Given the description of an element on the screen output the (x, y) to click on. 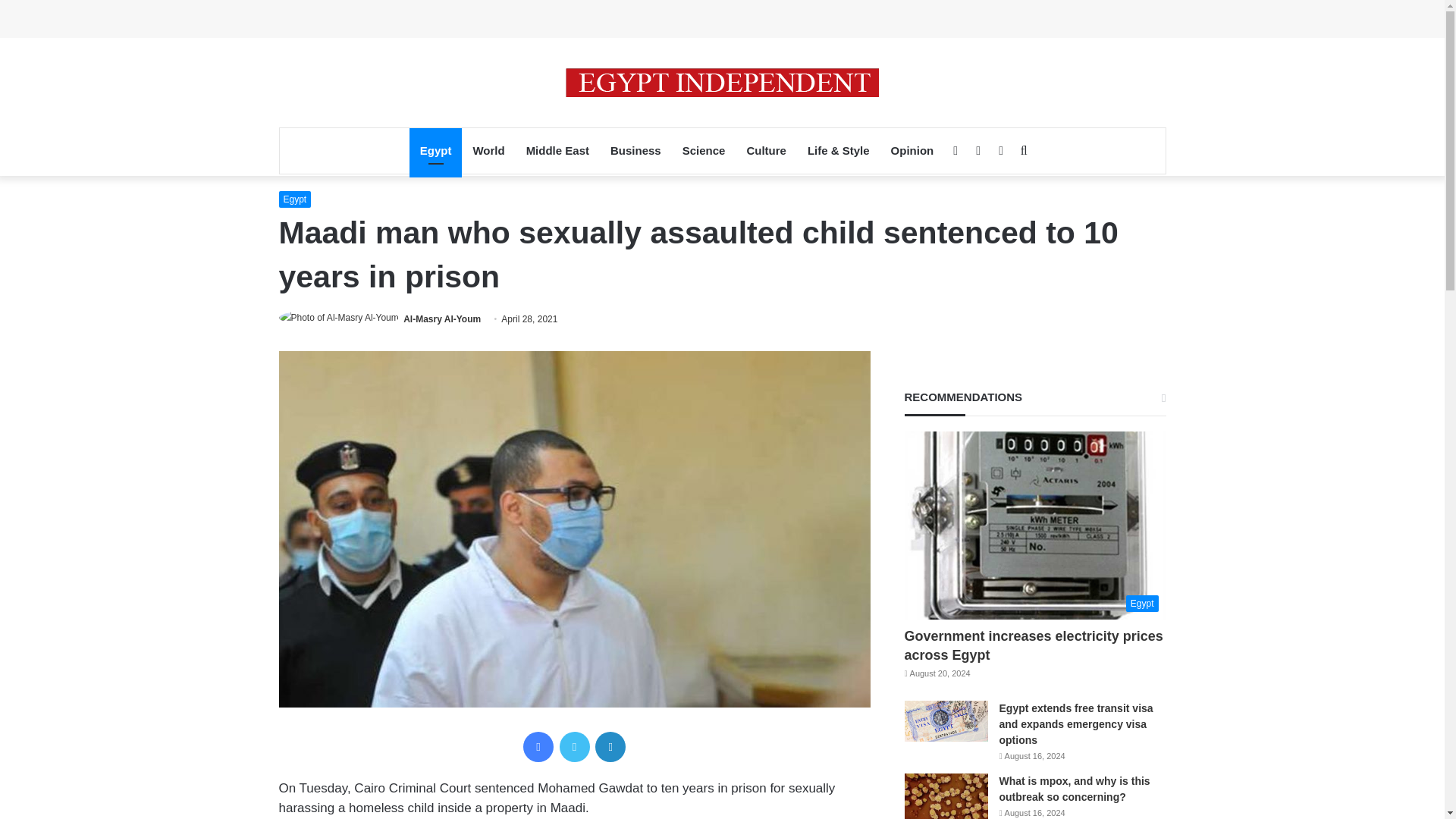
LinkedIn (610, 747)
Facebook (537, 747)
Science (703, 150)
Al-Masry Al-Youm (441, 318)
Egypt Independent (722, 82)
Facebook (537, 747)
LinkedIn (610, 747)
World (488, 150)
Culture (765, 150)
Opinion (912, 150)
